Given the description of an element on the screen output the (x, y) to click on. 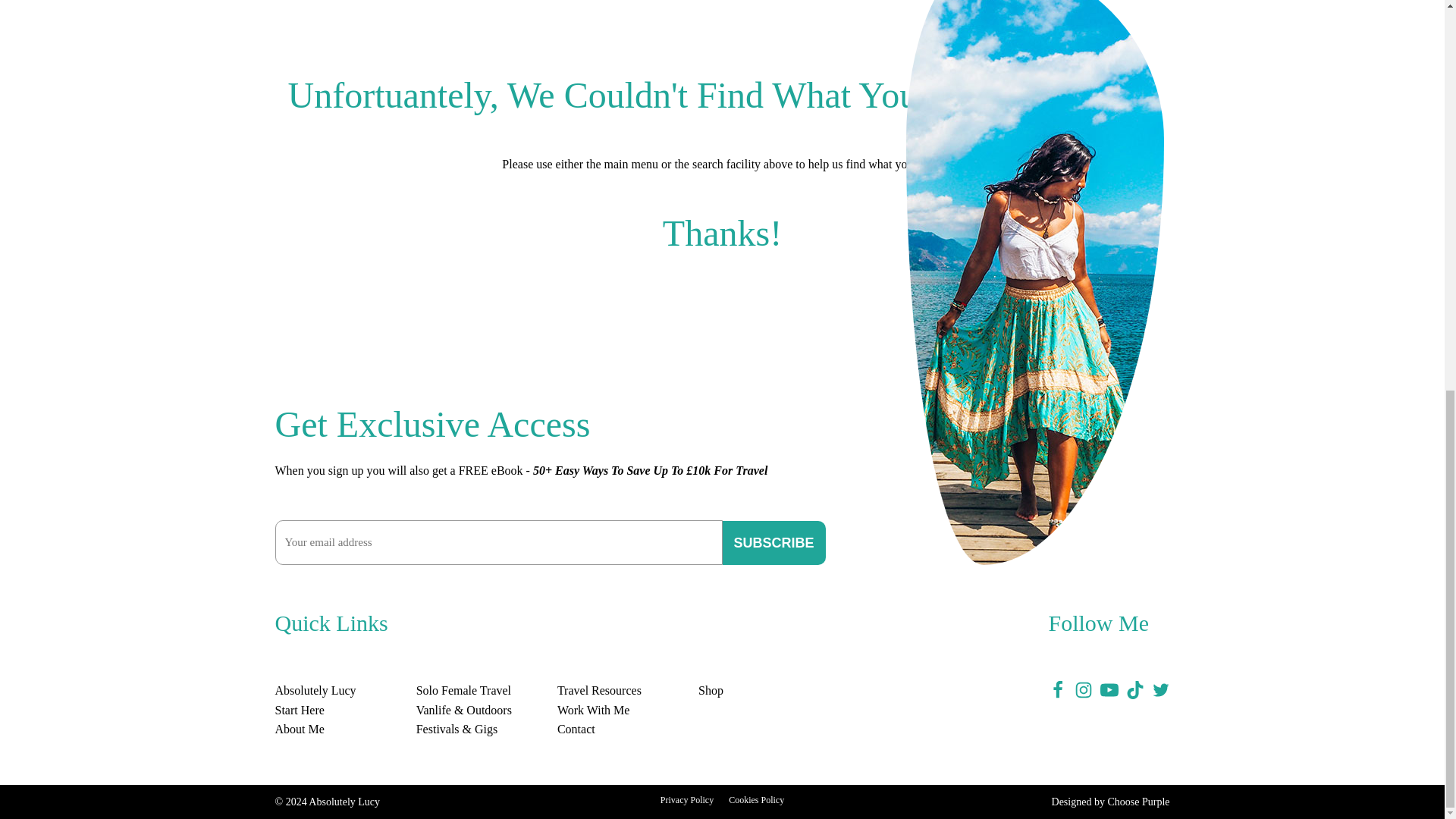
Subscribe (773, 542)
